Given the description of an element on the screen output the (x, y) to click on. 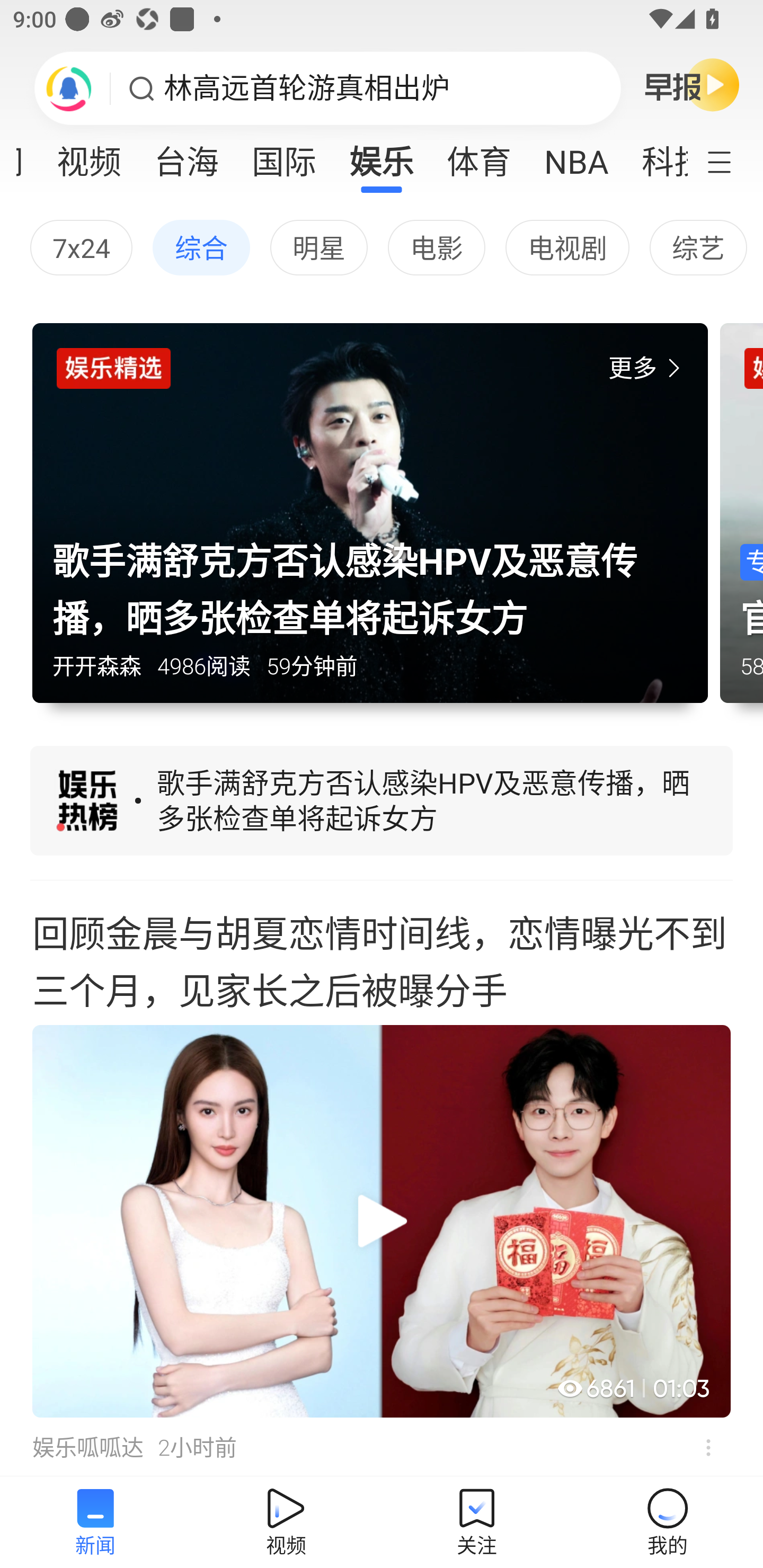
早晚报 (691, 84)
刷新 (68, 88)
林高远首轮游真相出炉 (307, 88)
视频 (89, 155)
台海 (186, 155)
国际 (283, 155)
娱乐 (381, 155)
体育 (478, 155)
NBA (575, 155)
 定制频道 (731, 160)
7x24 (80, 247)
综合 (201, 247)
明星 (318, 247)
电影 (436, 247)
电视剧 (567, 247)
综艺 (697, 247)
更多  (648, 367)
本地热点榜 (381, 802)
 不感兴趣 (707, 1447)
